Given the description of an element on the screen output the (x, y) to click on. 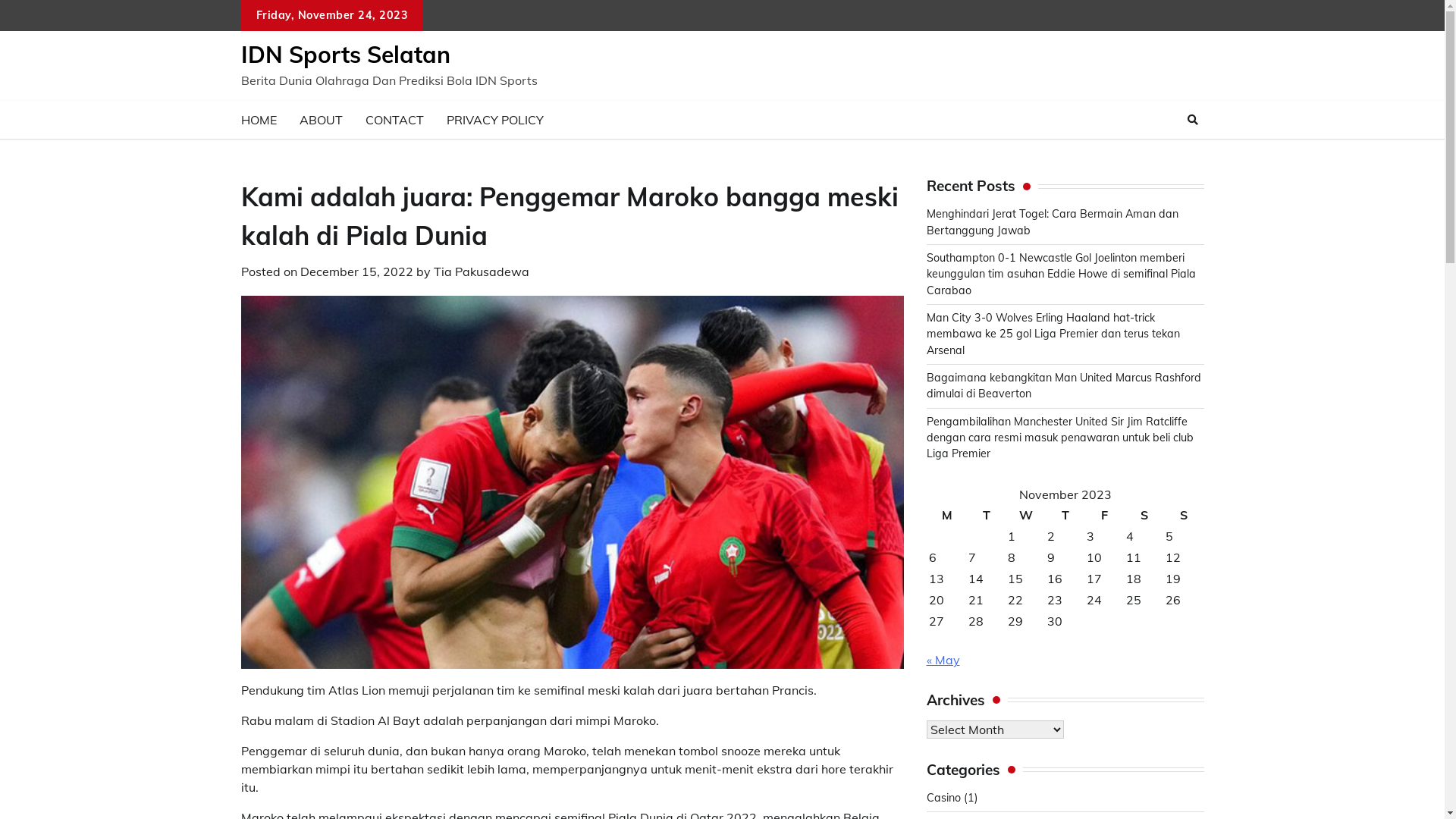
PRIVACY POLICY Element type: text (495, 119)
Casino Element type: text (943, 797)
CONTACT Element type: text (393, 119)
IDN Sports Selatan Element type: text (345, 54)
December 15, 2022 Element type: text (356, 271)
Search Element type: text (1164, 155)
HOME Element type: text (258, 119)
ABOUT Element type: text (321, 119)
Tia Pakusadewa Element type: text (481, 271)
Search Element type: hover (1192, 119)
